Given the description of an element on the screen output the (x, y) to click on. 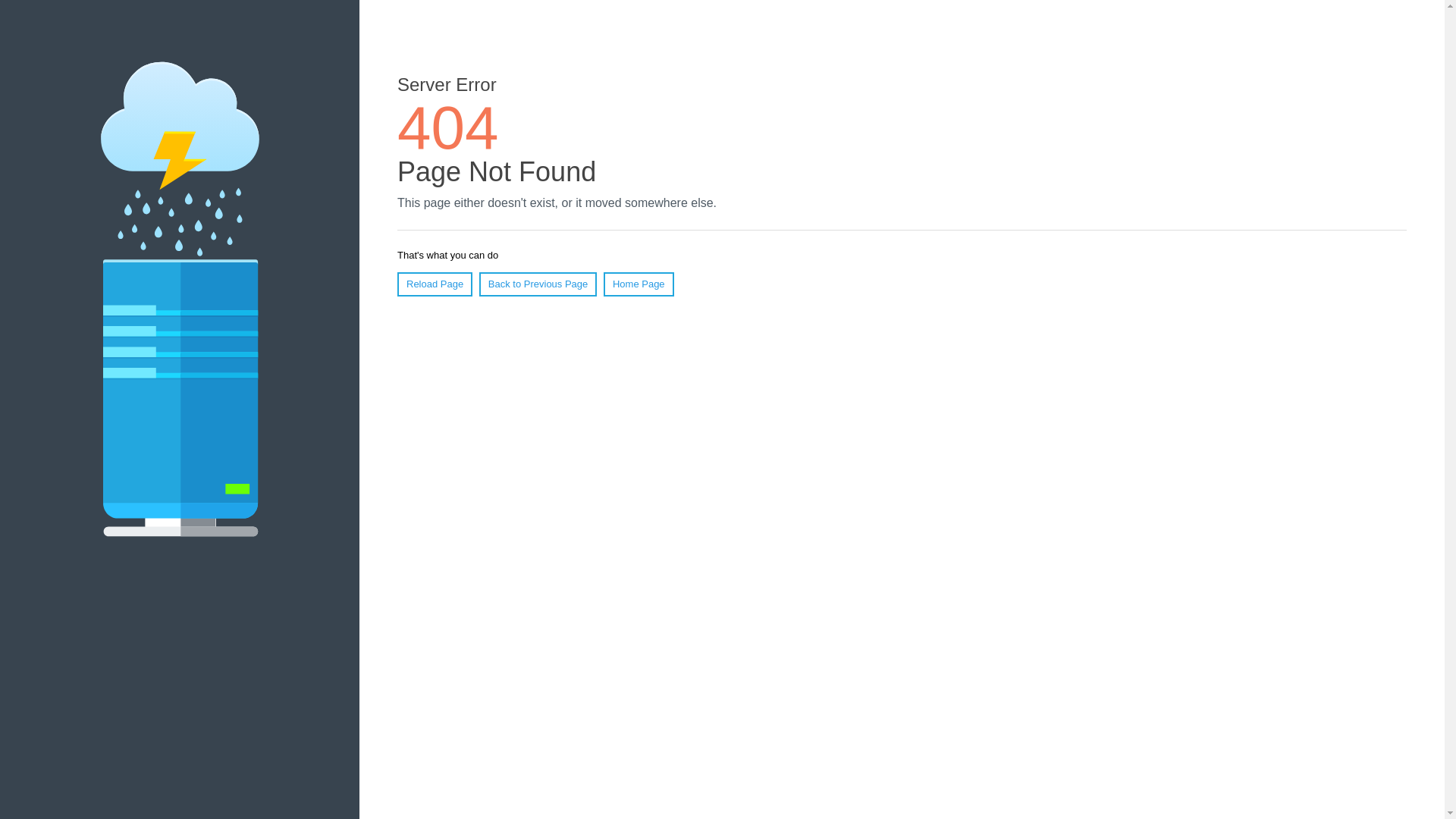
Back to Previous Page Element type: text (538, 284)
Home Page Element type: text (638, 284)
Reload Page Element type: text (434, 284)
